Given the description of an element on the screen output the (x, y) to click on. 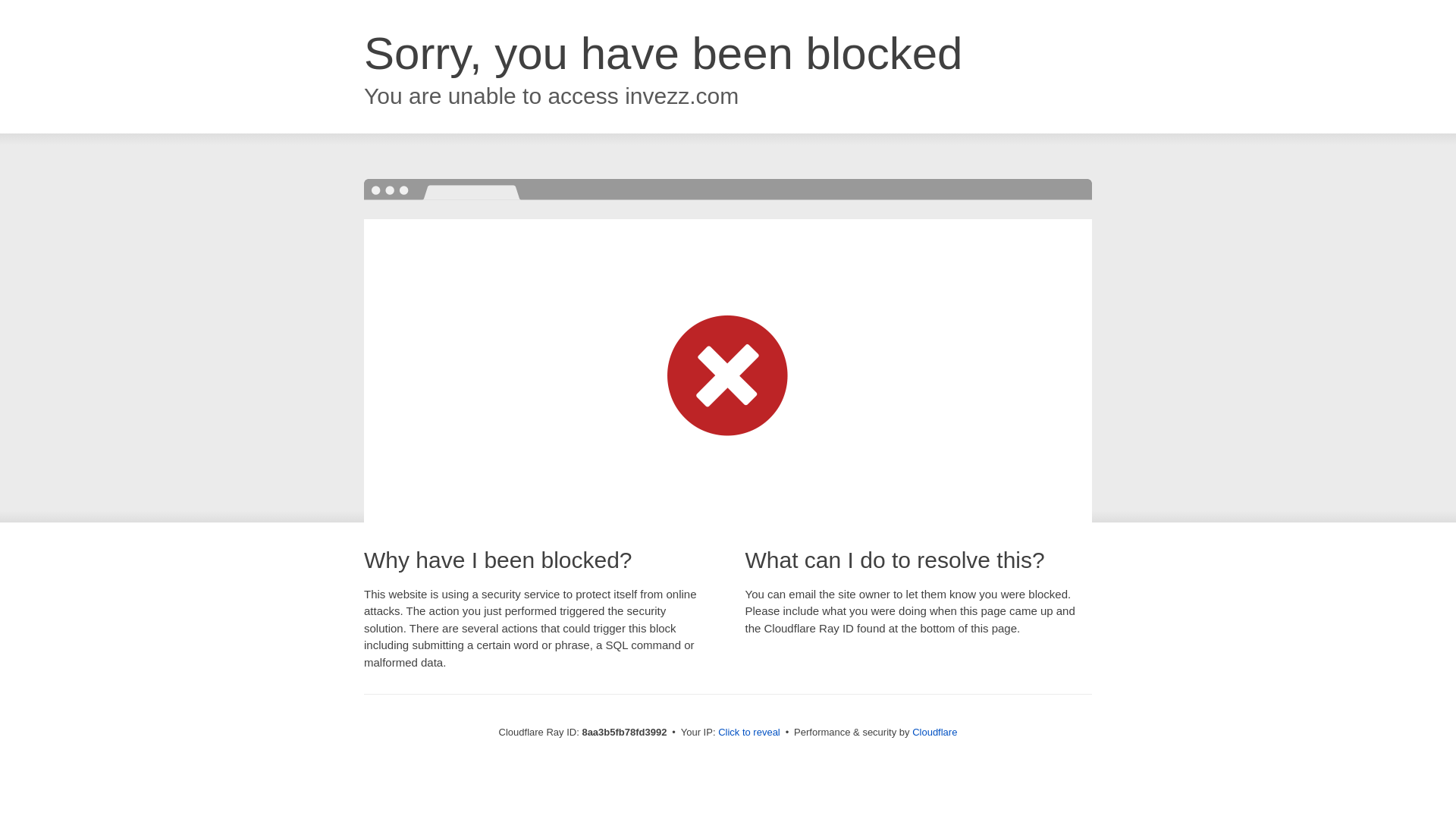
Click to reveal (748, 732)
Cloudflare (934, 731)
